Given the description of an element on the screen output the (x, y) to click on. 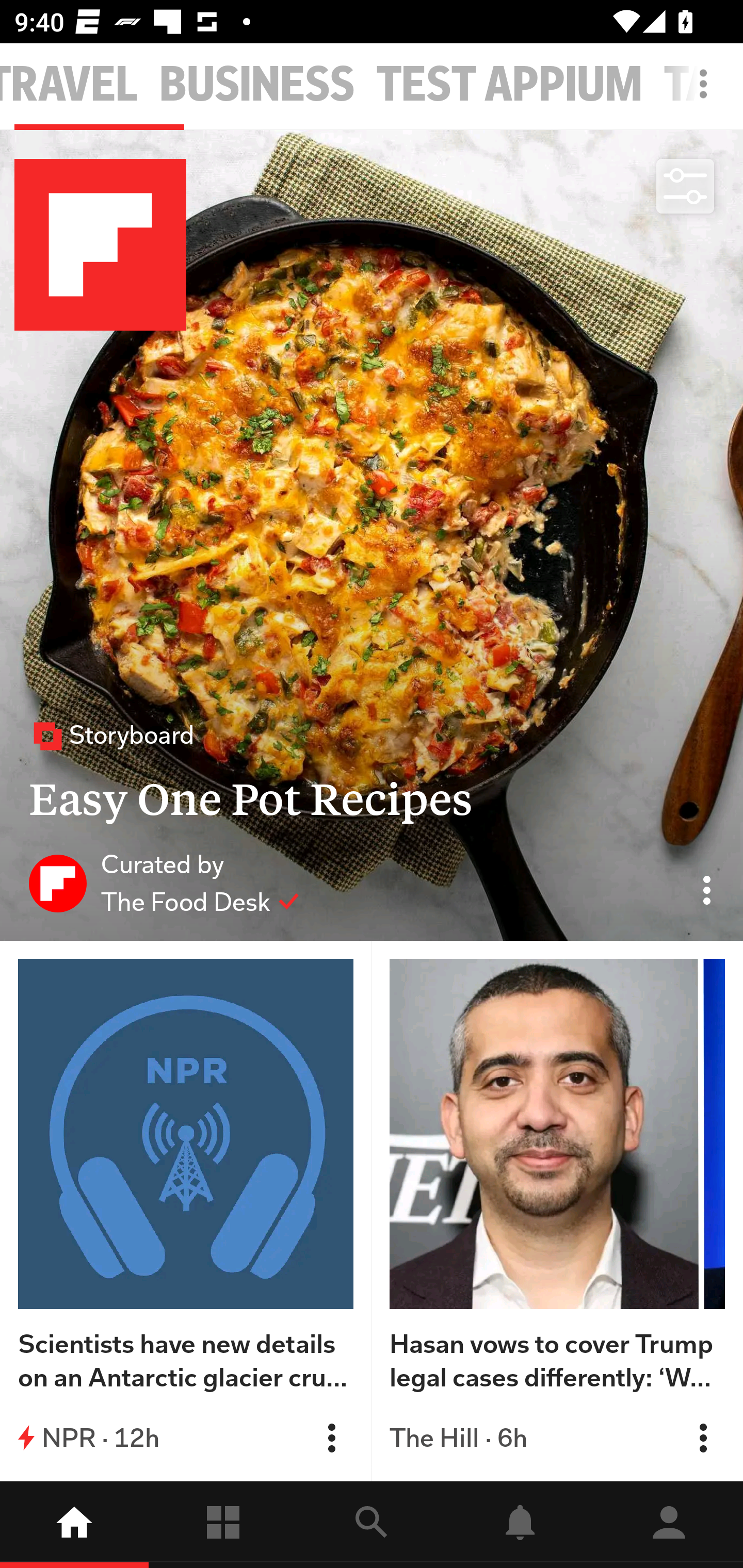
BUSINESS (257, 84)
TEST APPIUM (509, 84)
More options (706, 93)
Curated by The Food Desk (163, 882)
NPR · 12h Flip into Magazine (185, 1437)
The Hill · 6h Flip into Magazine (557, 1437)
Flip into Magazine (331, 1437)
Flip into Magazine (703, 1437)
home (74, 1524)
Following (222, 1524)
explore (371, 1524)
Notifications (519, 1524)
Profile (668, 1524)
